Given the description of an element on the screen output the (x, y) to click on. 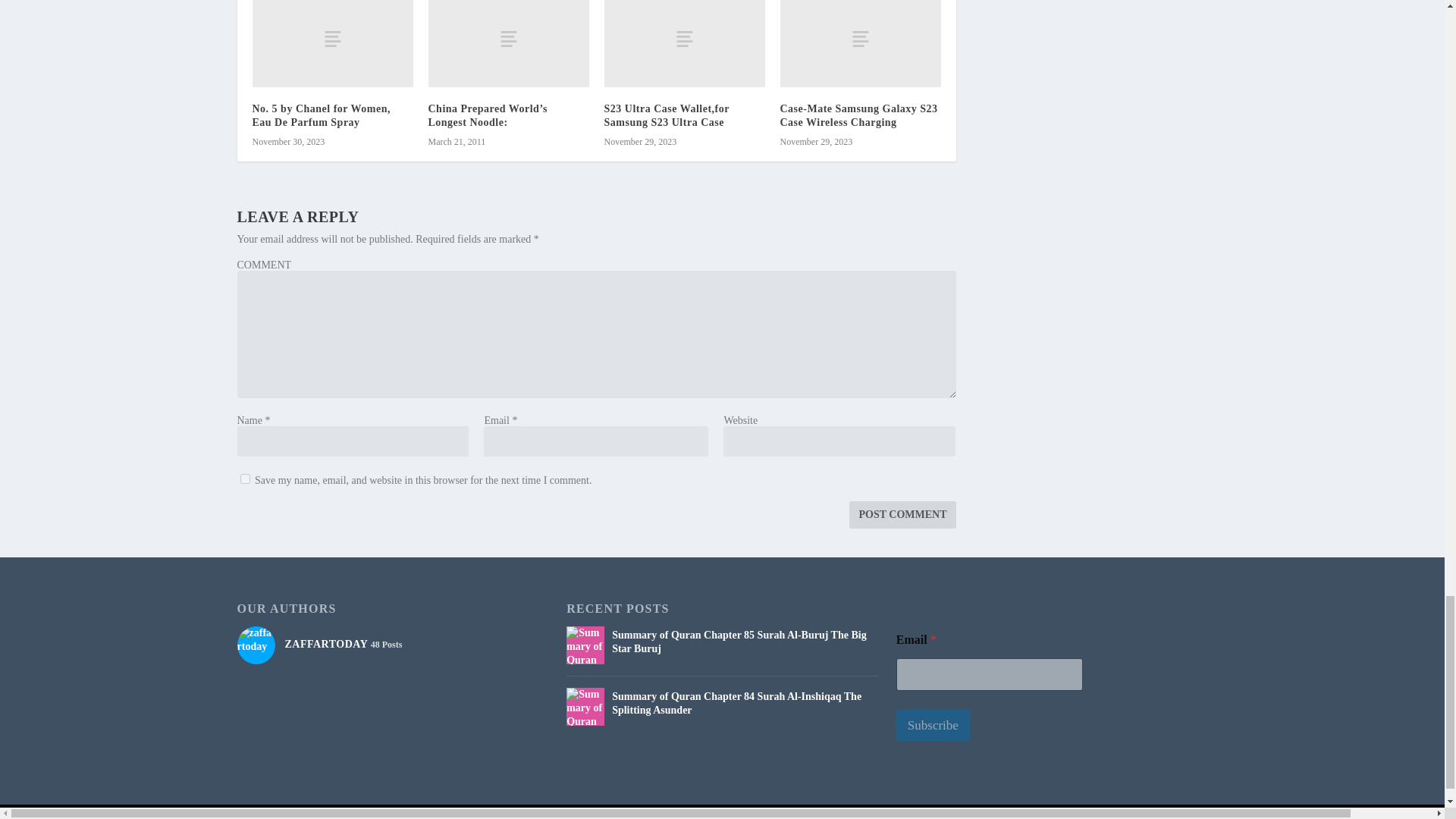
No. 5 by Chanel for Women, Eau De Parfum Spray (331, 43)
yes (244, 479)
Post Comment (901, 514)
